Given the description of an element on the screen output the (x, y) to click on. 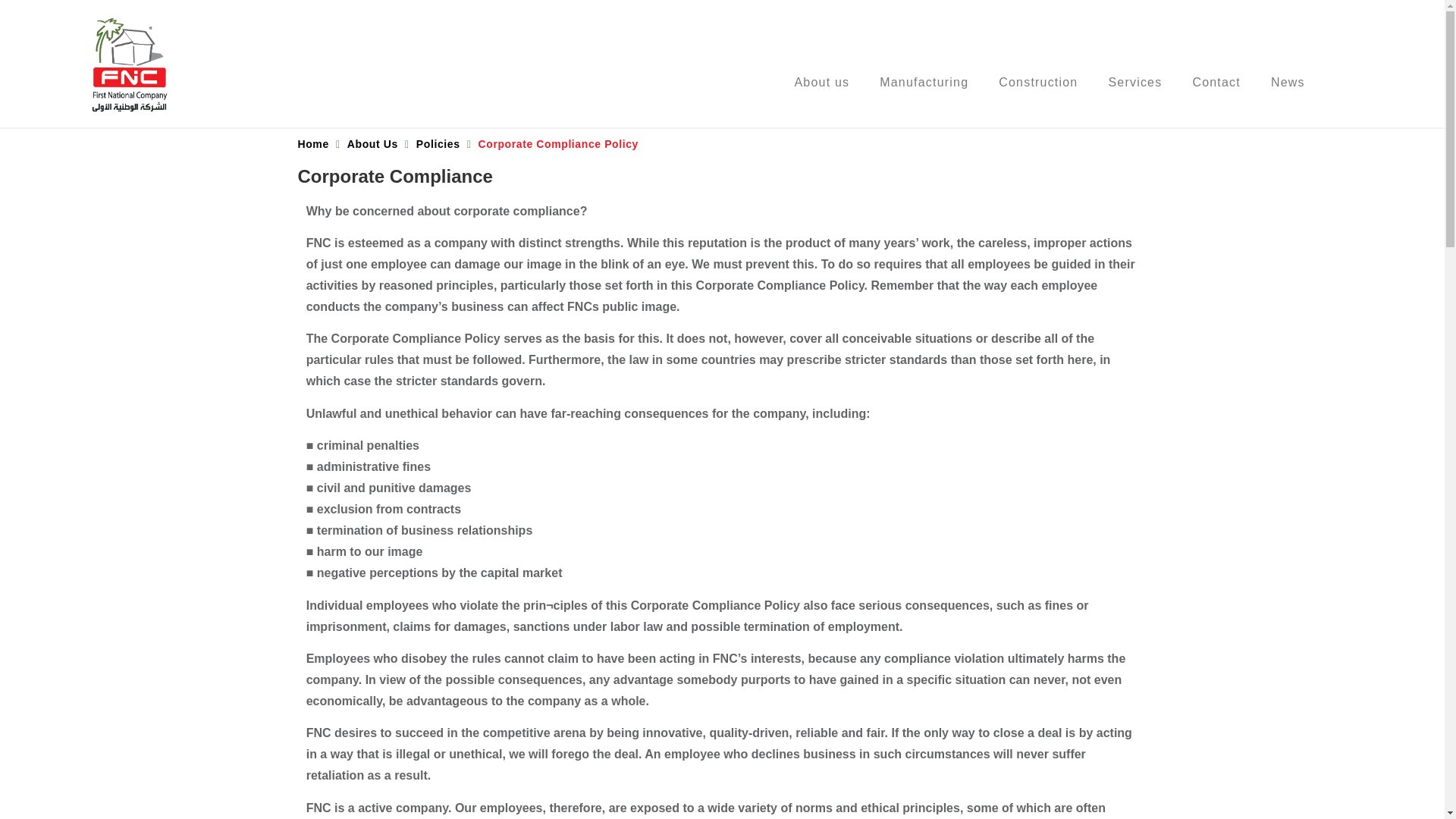
Manufacturing (924, 82)
About us (821, 82)
News (1287, 82)
Contact (1215, 82)
Services (1134, 82)
Home (313, 144)
Policies (438, 144)
Construction (1038, 82)
About Us (372, 144)
